Given the description of an element on the screen output the (x, y) to click on. 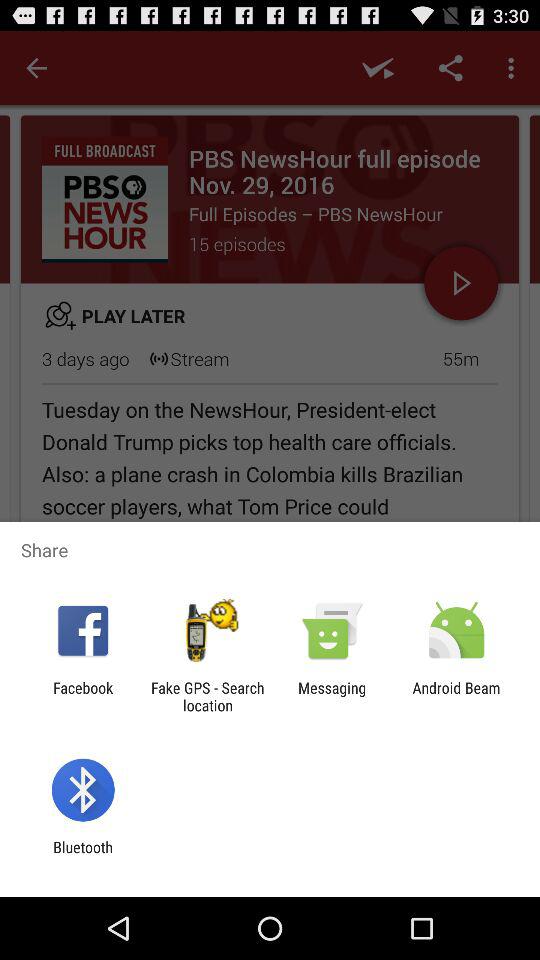
open the item to the right of facebook app (207, 696)
